Given the description of an element on the screen output the (x, y) to click on. 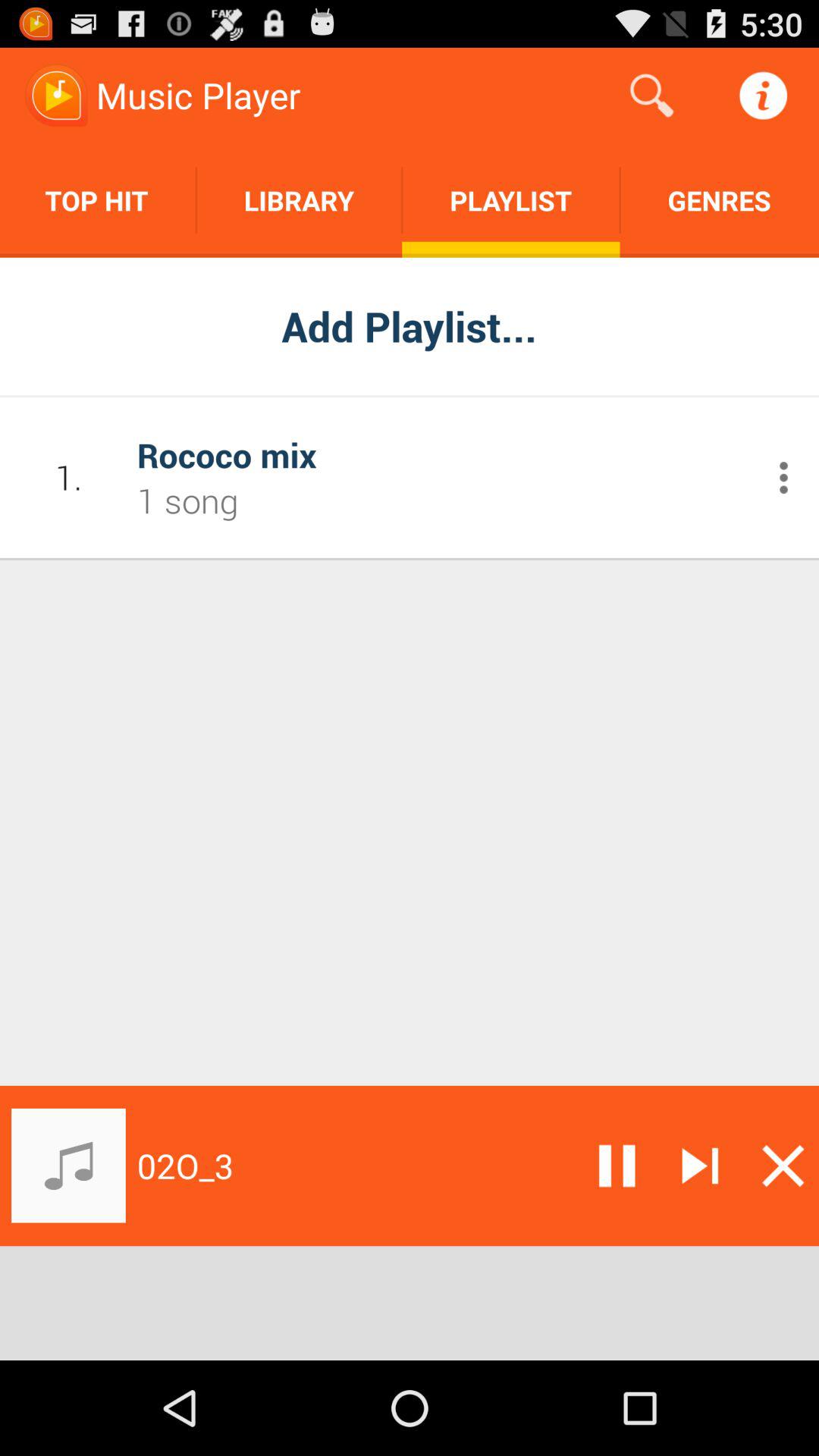
exit (783, 1165)
